Given the description of an element on the screen output the (x, y) to click on. 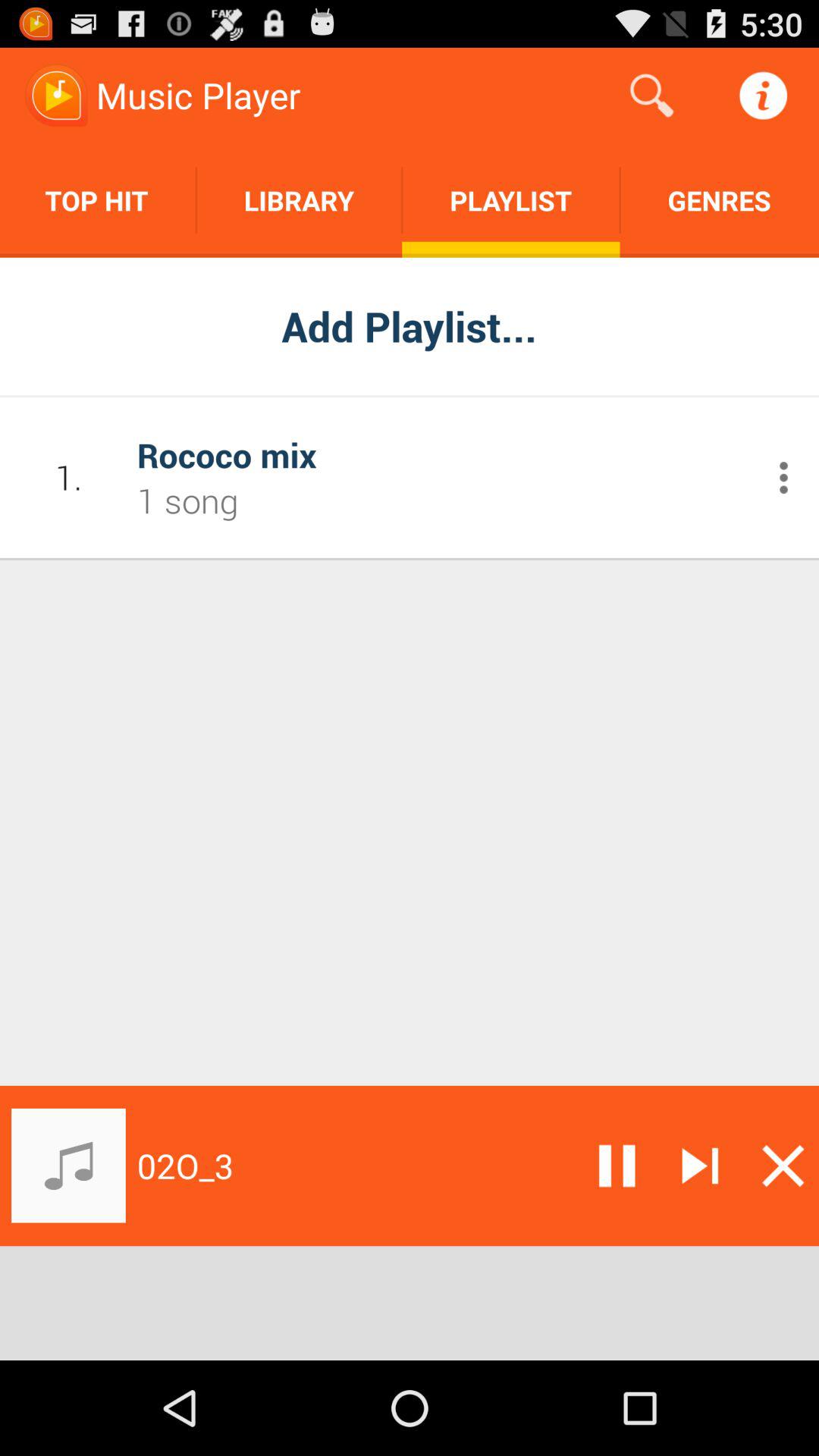
exit (783, 1165)
